Given the description of an element on the screen output the (x, y) to click on. 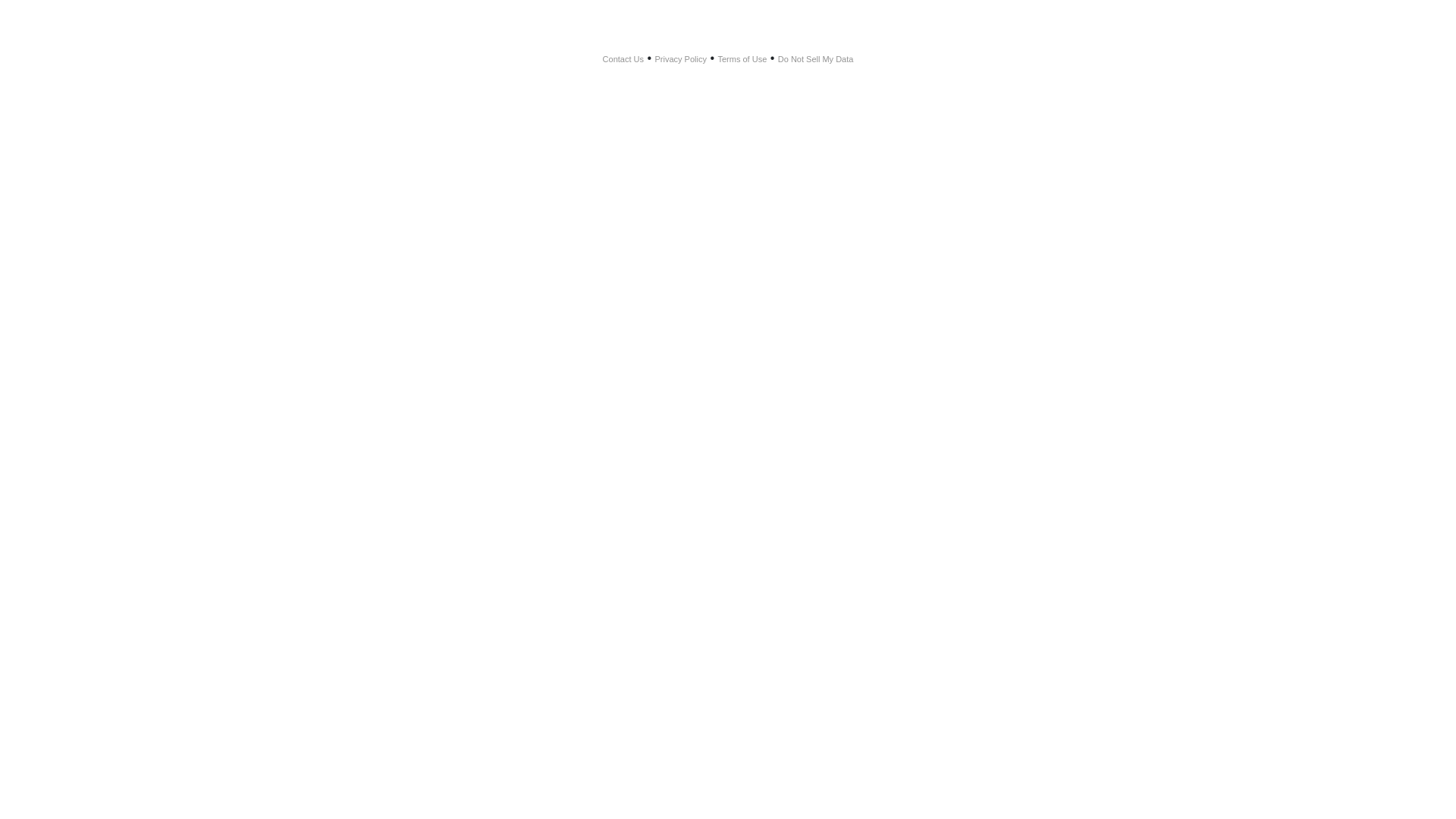
Privacy Policy Element type: text (680, 58)
Do Not Sell My Data Element type: text (815, 58)
Contact Us Element type: text (622, 58)
Terms of Use Element type: text (741, 58)
